Given the description of an element on the screen output the (x, y) to click on. 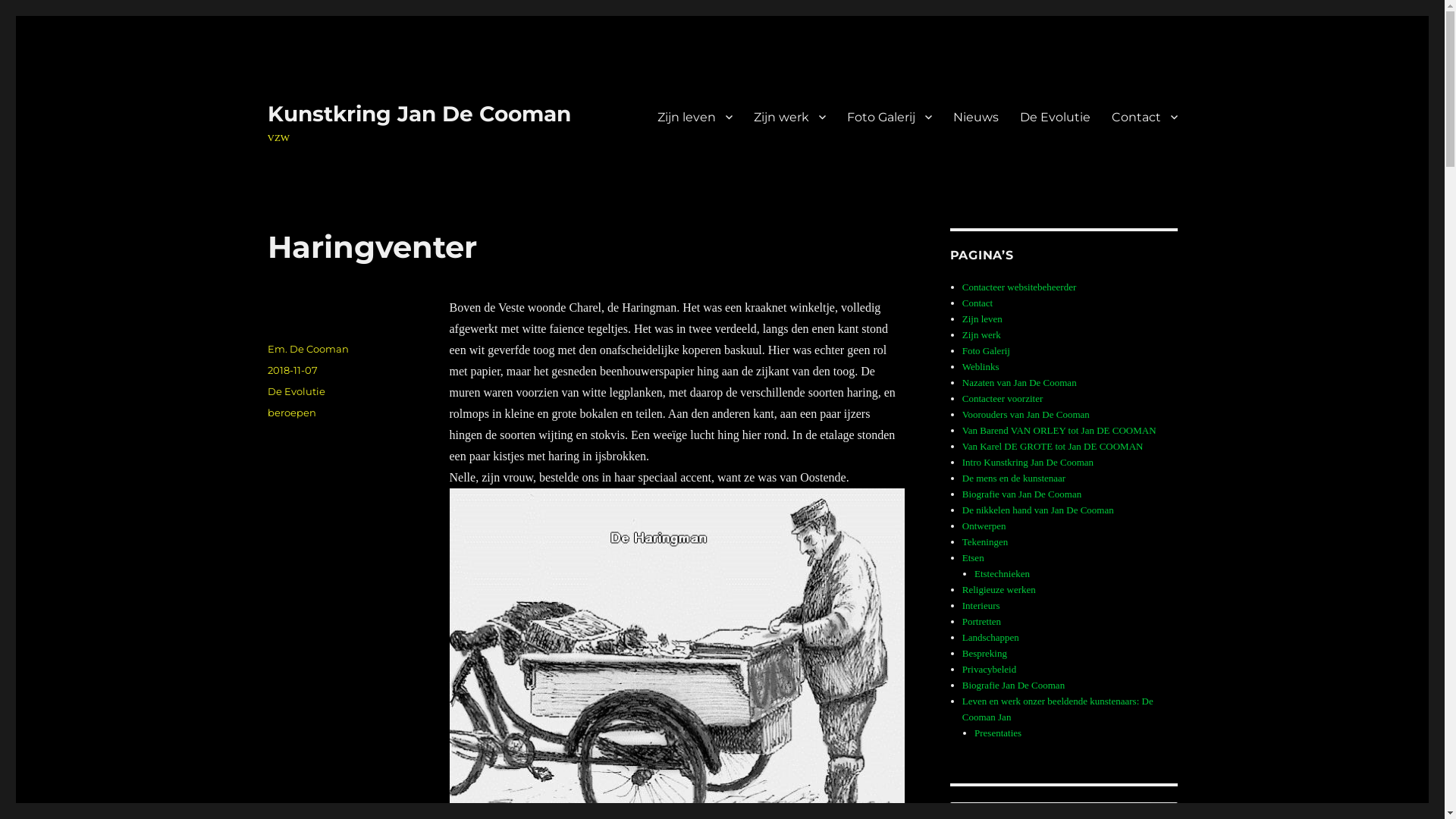
Biografie van Jan De Cooman Element type: text (1021, 493)
Etsen Element type: text (973, 557)
Em. De Cooman Element type: text (307, 348)
Presentaties Element type: text (997, 732)
Intro Kunstkring Jan De Cooman Element type: text (1027, 461)
Voorouders van Jan De Cooman Element type: text (1025, 414)
De mens en de kunstenaar Element type: text (1013, 477)
De nikkelen hand van Jan De Cooman Element type: text (1037, 509)
Etstechnieken Element type: text (1001, 573)
Bespreking Element type: text (984, 652)
Contact Element type: text (1144, 116)
2018-11-07 Element type: text (291, 370)
De Evolutie Element type: text (295, 391)
Leven en werk onzer beeldende kunstenaars: De Cooman Jan Element type: text (1057, 708)
Contacteer websitebeheerder Element type: text (1019, 286)
Religieuze werken Element type: text (998, 589)
Contacteer voorziter Element type: text (1002, 398)
Weblinks Element type: text (980, 366)
Van Barend VAN ORLEY tot Jan DE COOMAN Element type: text (1059, 430)
Van Karel DE GROTE tot Jan DE COOMAN Element type: text (1052, 445)
Portretten Element type: text (981, 621)
Biografie Jan De Cooman Element type: text (1013, 684)
Ontwerpen Element type: text (984, 525)
De Evolutie Element type: text (1054, 116)
Zijn leven Element type: text (982, 318)
Tekeningen Element type: text (984, 541)
Nieuws Element type: text (974, 116)
Contact Element type: text (977, 302)
Zijn werk Element type: text (981, 334)
Interieurs Element type: text (981, 605)
Foto Galerij Element type: text (888, 116)
Foto Galerij Element type: text (986, 350)
Kunstkring Jan De Cooman Element type: text (418, 113)
beroepen Element type: text (290, 412)
Zijn werk Element type: text (789, 116)
Zijn leven Element type: text (694, 116)
Privacybeleid Element type: text (989, 668)
Nazaten van Jan De Cooman Element type: text (1019, 382)
Landschappen Element type: text (990, 637)
